Given the description of an element on the screen output the (x, y) to click on. 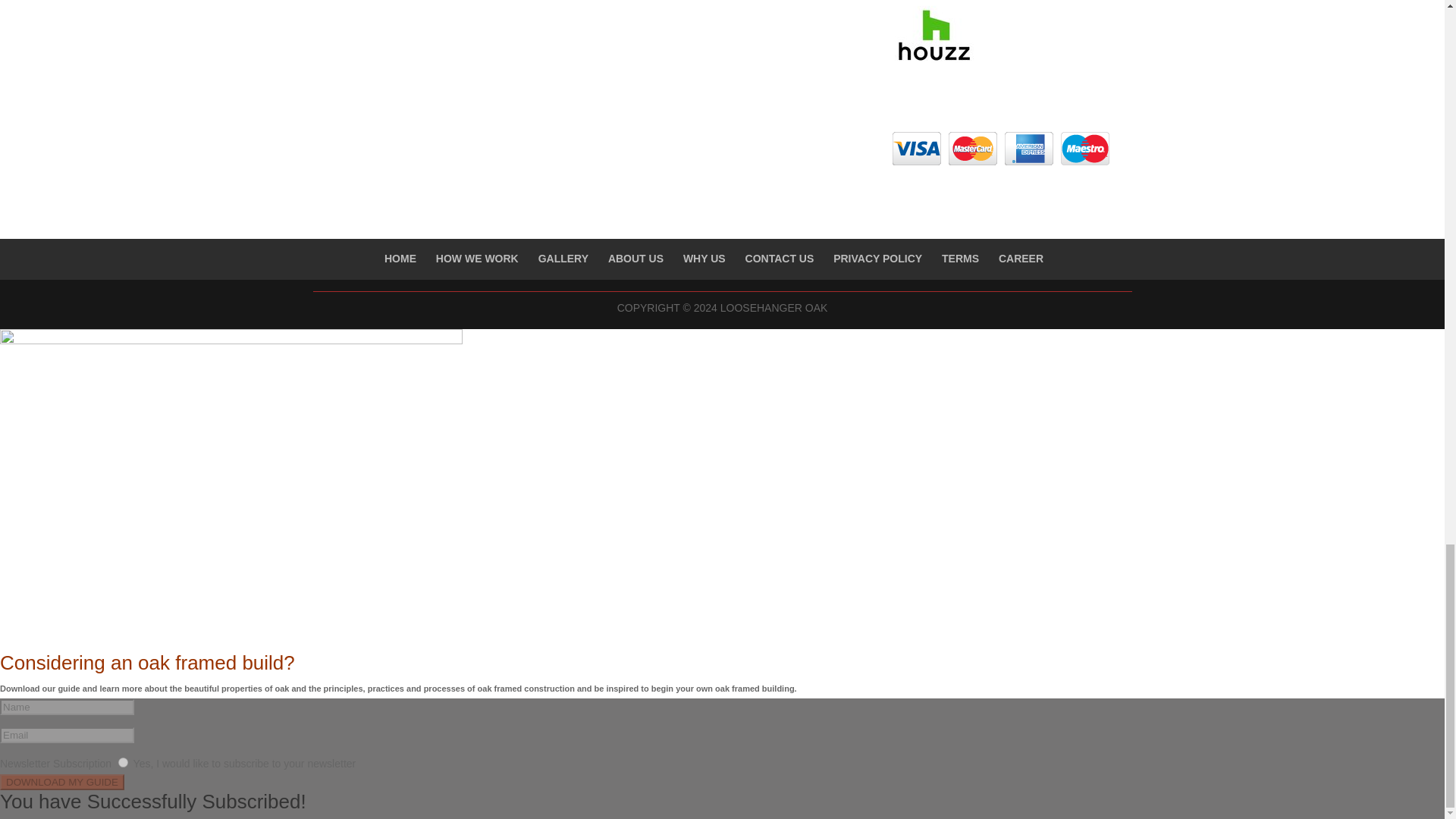
GALLERY (563, 258)
ABOUT US (635, 258)
Yes, I would like to subscribe to your newsletter (122, 762)
HOME (400, 258)
HOW WE WORK (476, 258)
